Given the description of an element on the screen output the (x, y) to click on. 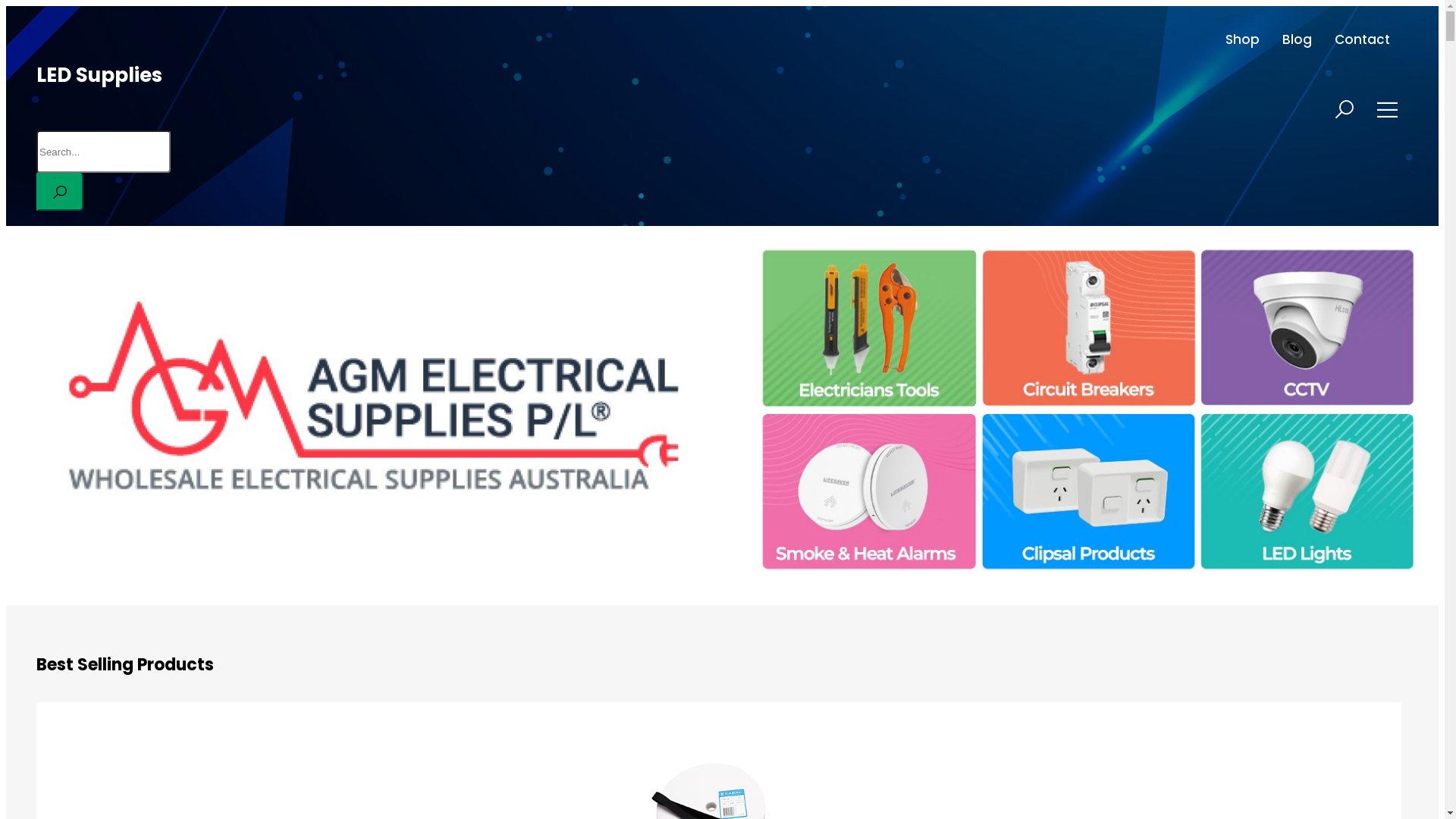
Contact Element type: text (1362, 39)
Shop Element type: text (1242, 39)
Blog Element type: text (1296, 39)
LED Supplies Element type: text (99, 74)
